Given the description of an element on the screen output the (x, y) to click on. 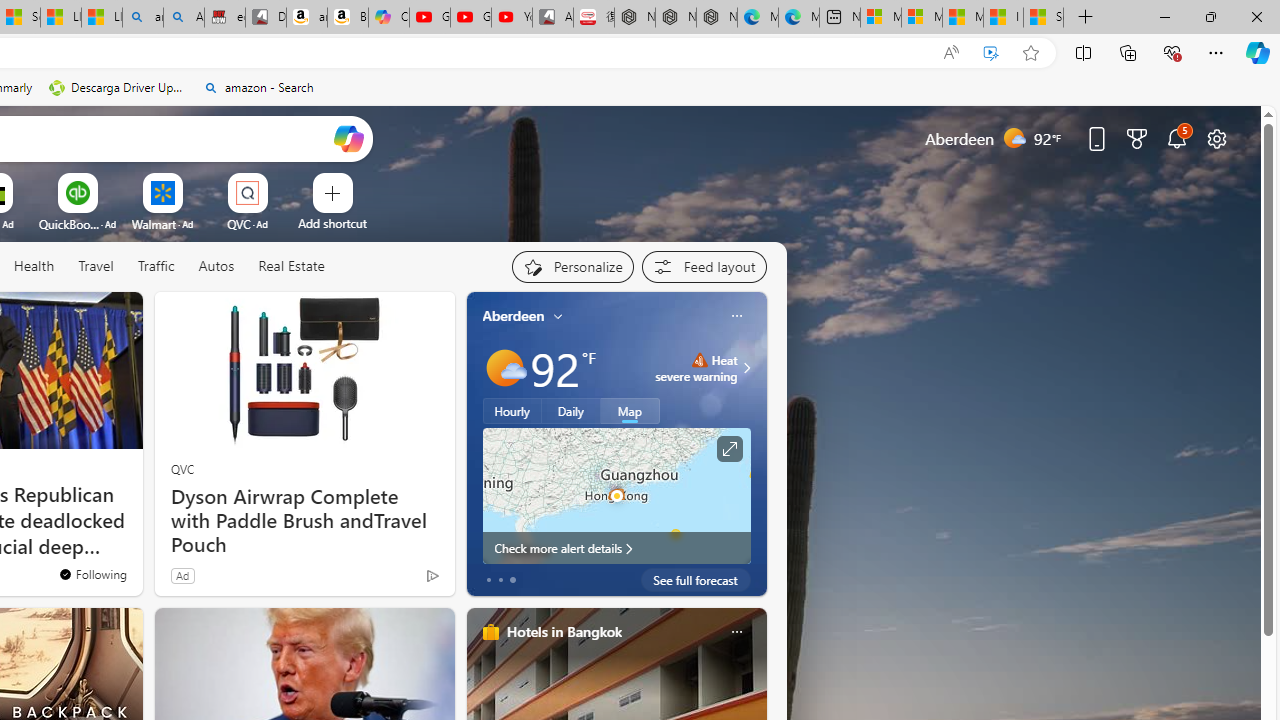
tab-0 (488, 579)
More options (736, 631)
Real Estate (290, 267)
Map (630, 411)
Traffic (155, 267)
Gloom - YouTube (470, 17)
Larger map  (616, 495)
Health (34, 265)
Notifications (1176, 138)
